Given the description of an element on the screen output the (x, y) to click on. 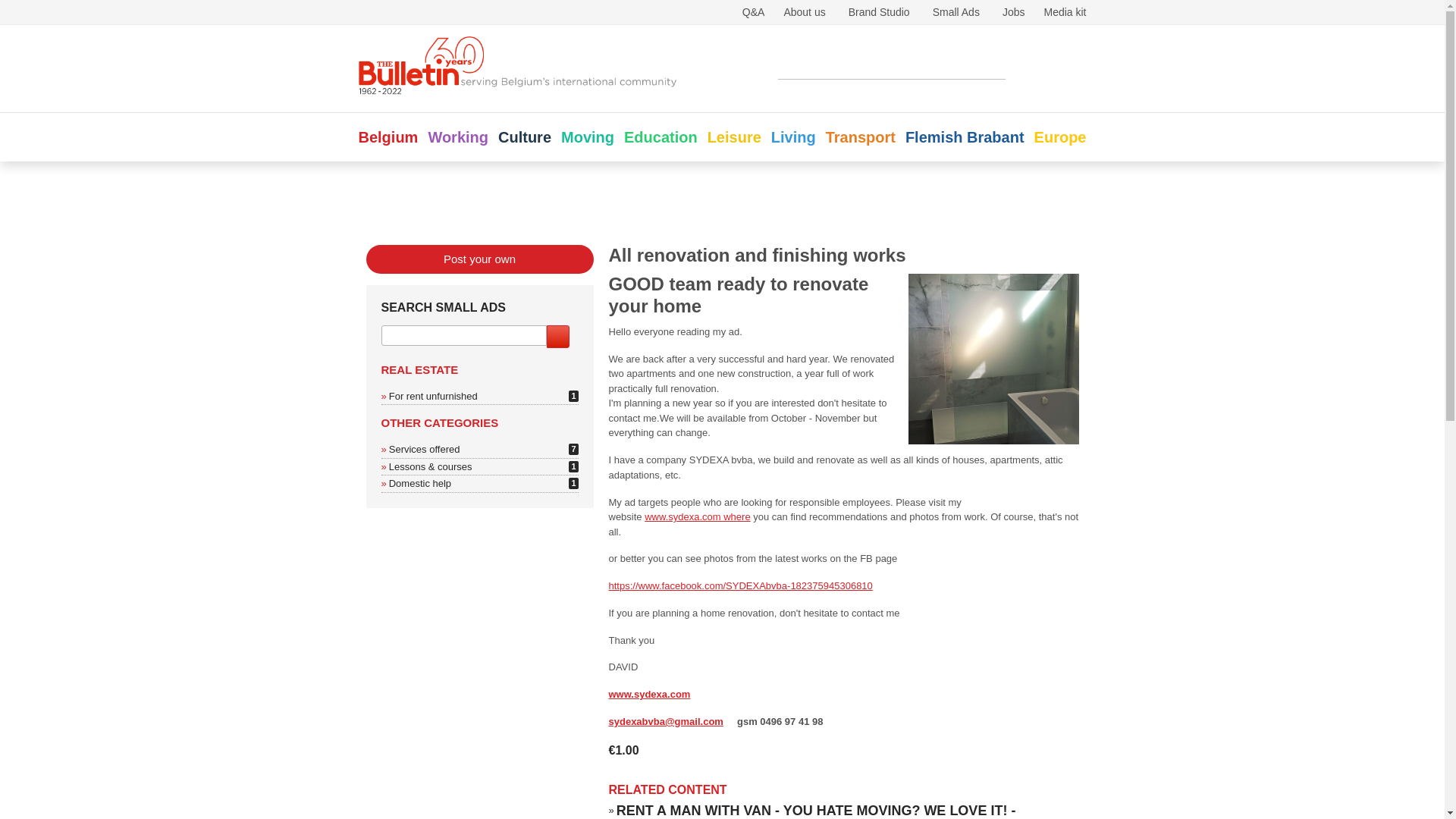
Post your own (478, 392)
Small Ads (956, 11)
submit (557, 468)
Search (1037, 67)
About us (804, 11)
Moving (587, 136)
Belgium (387, 136)
Living (793, 136)
Culture (524, 136)
Enter the terms you wish to search for. (891, 67)
Jobs (1014, 11)
Flemish Brabant (965, 136)
Home (518, 92)
Media kit (1064, 11)
Brand Studio (879, 11)
